Given the description of an element on the screen output the (x, y) to click on. 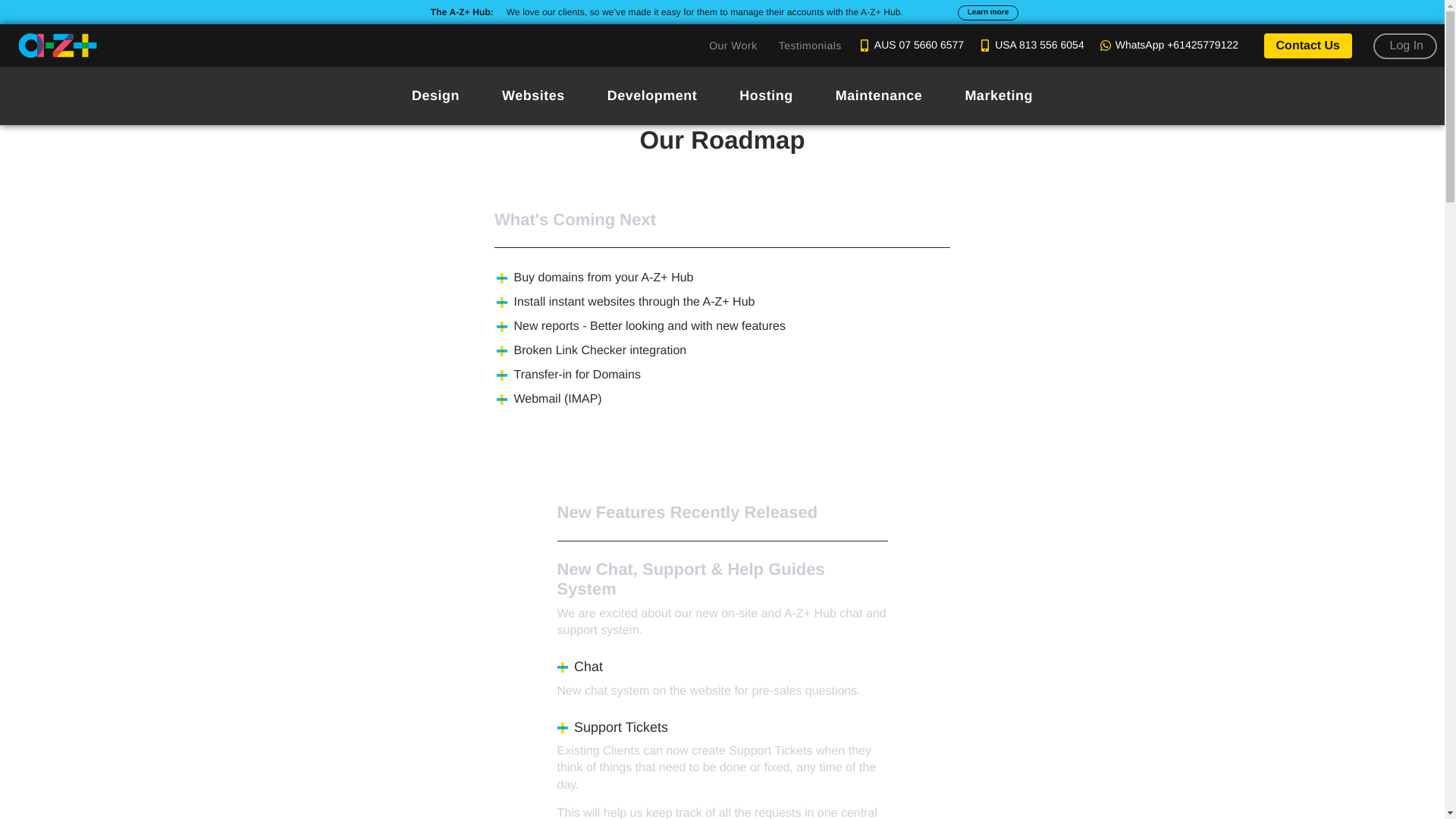
Contact Us (1307, 45)
Learn more (987, 11)
Hosting (765, 95)
AUS 07 5660 6577 (909, 45)
Testimonials (809, 45)
Development (652, 95)
Our Work (733, 45)
Marketing (998, 95)
USA 813 556 6054 (1029, 45)
Log In (1405, 45)
Design (435, 95)
Maintenance (878, 95)
Websites (533, 95)
